Given the description of an element on the screen output the (x, y) to click on. 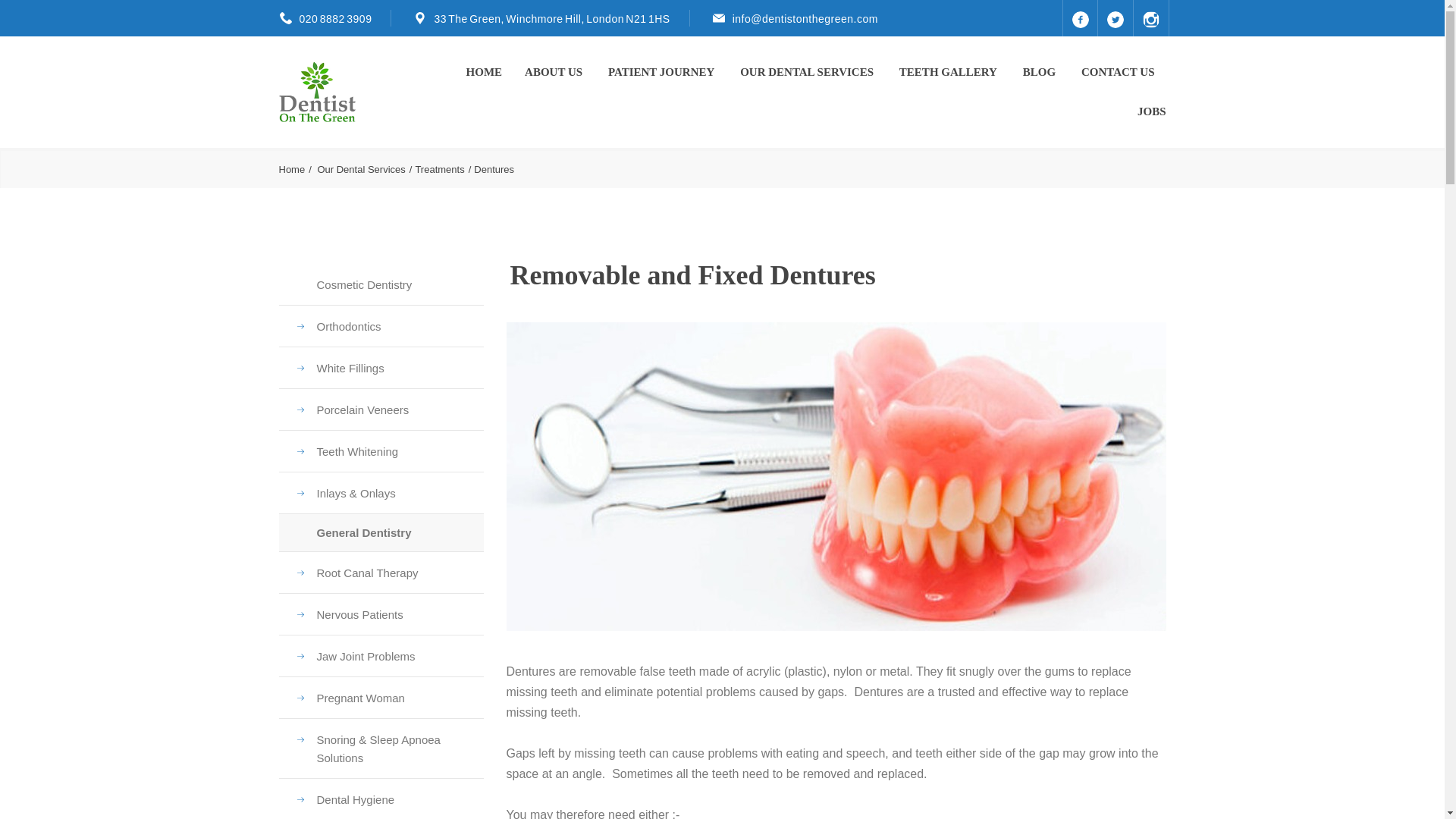
HOME (483, 71)
020 8882 3909 (334, 19)
ABOUT US (554, 71)
OUR DENTAL SERVICES (807, 71)
PATIENT JOURNEY (662, 71)
